Given the description of an element on the screen output the (x, y) to click on. 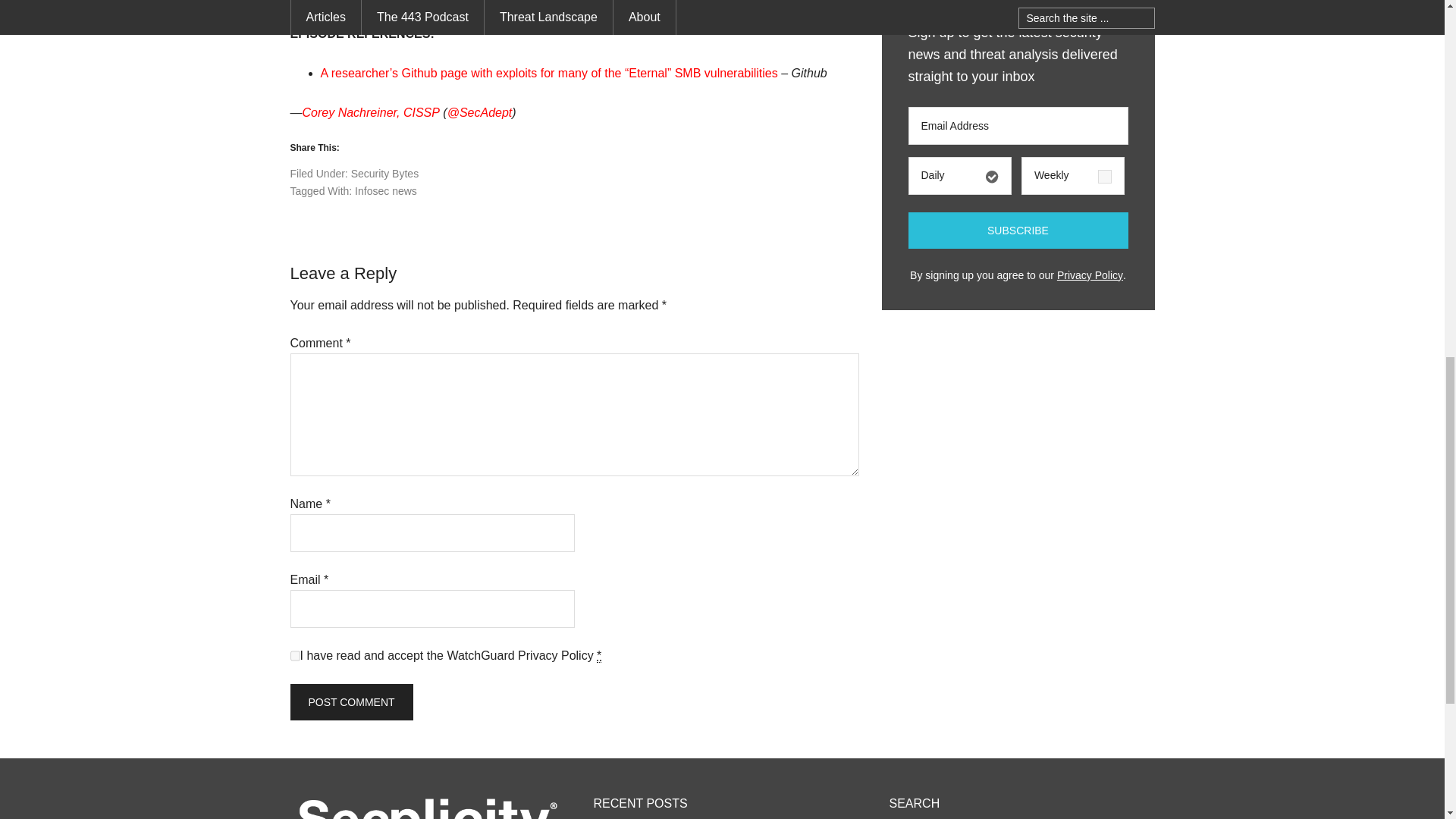
Privacy Policy (556, 655)
Security Bytes (384, 173)
Subscribe (1018, 230)
Subscribe (1018, 230)
Post Comment (350, 701)
Corey Nachreiner, CISSP (370, 112)
Infosec news (385, 191)
Post Comment (350, 701)
Privacy Policy (1089, 275)
